Given the description of an element on the screen output the (x, y) to click on. 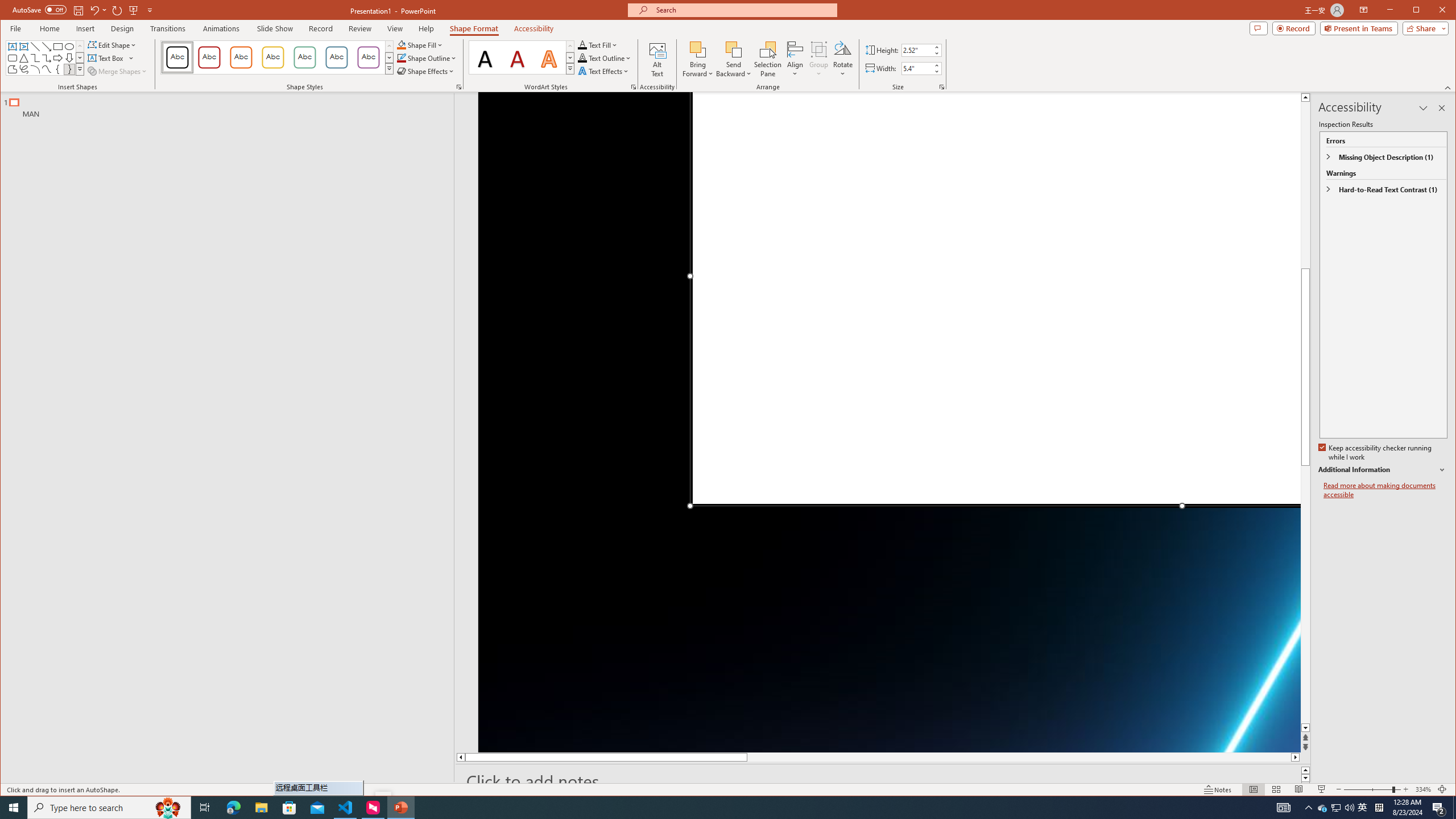
Colored Outline - Purple, Accent 6 (368, 57)
Text Fill (598, 44)
Format Text Effects... (632, 86)
